Given the description of an element on the screen output the (x, y) to click on. 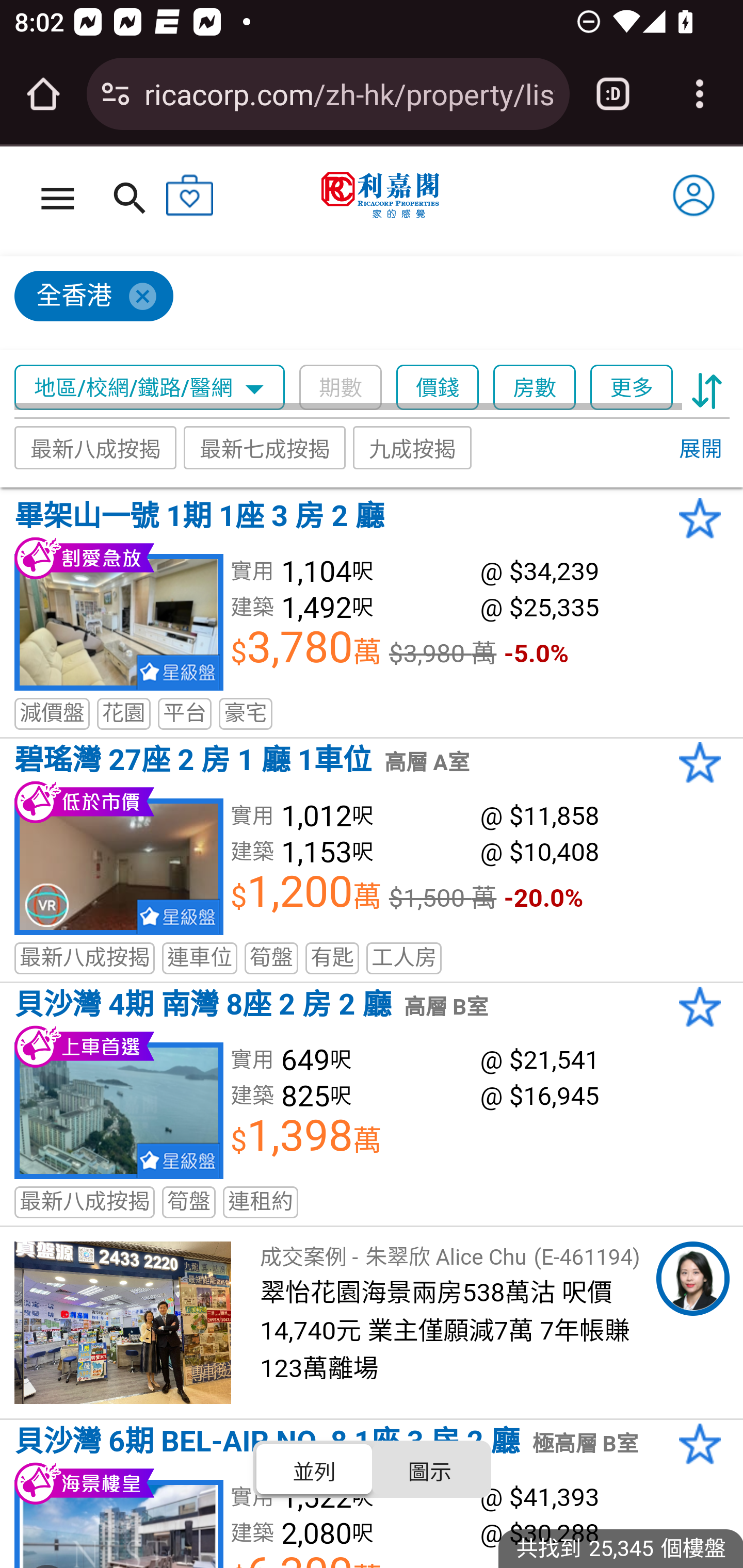
Open the home page (43, 93)
Connection is secure (115, 93)
Switch or close tabs (612, 93)
Customize and control Google Chrome (699, 93)
ricacorp.com/zh-hk/property/list/buy (349, 92)
